Given the description of an element on the screen output the (x, y) to click on. 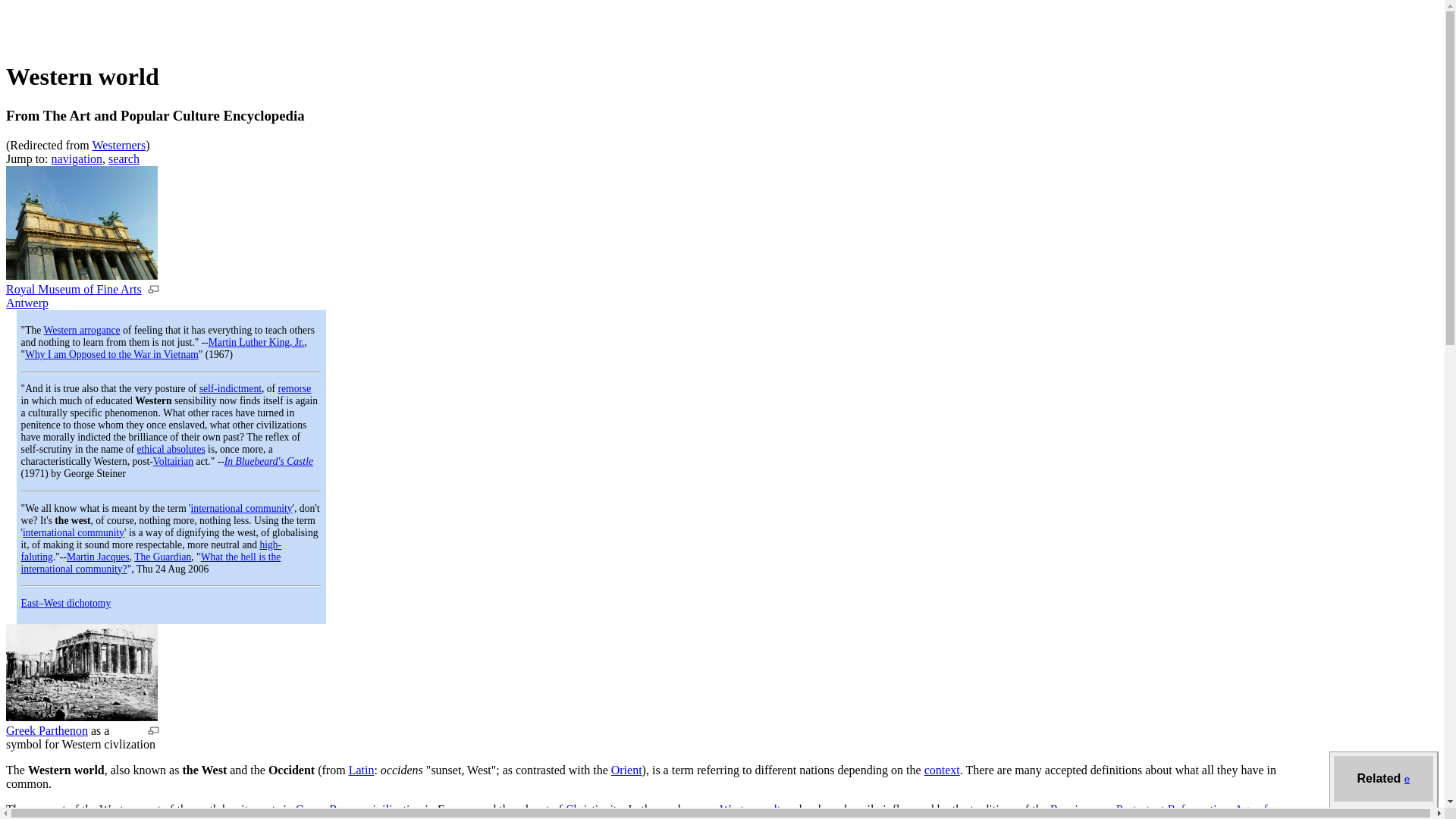
What the hell is the international community? (151, 562)
Western arrogance (81, 329)
The Guardian (161, 556)
Royal Museum of Fine Arts Antwerp (73, 295)
Voltairian (172, 460)
Protestant Reformation (1172, 809)
Renaissance (1079, 809)
In Bluebeard's Castle (268, 460)
Ethical absolutes (170, 449)
Westerners (118, 144)
Orient (626, 769)
high-faluting (151, 550)
What the hell is the international community? (151, 562)
Royal Museum of Fine Arts Antwerp (81, 275)
international community (73, 532)
